Given the description of an element on the screen output the (x, y) to click on. 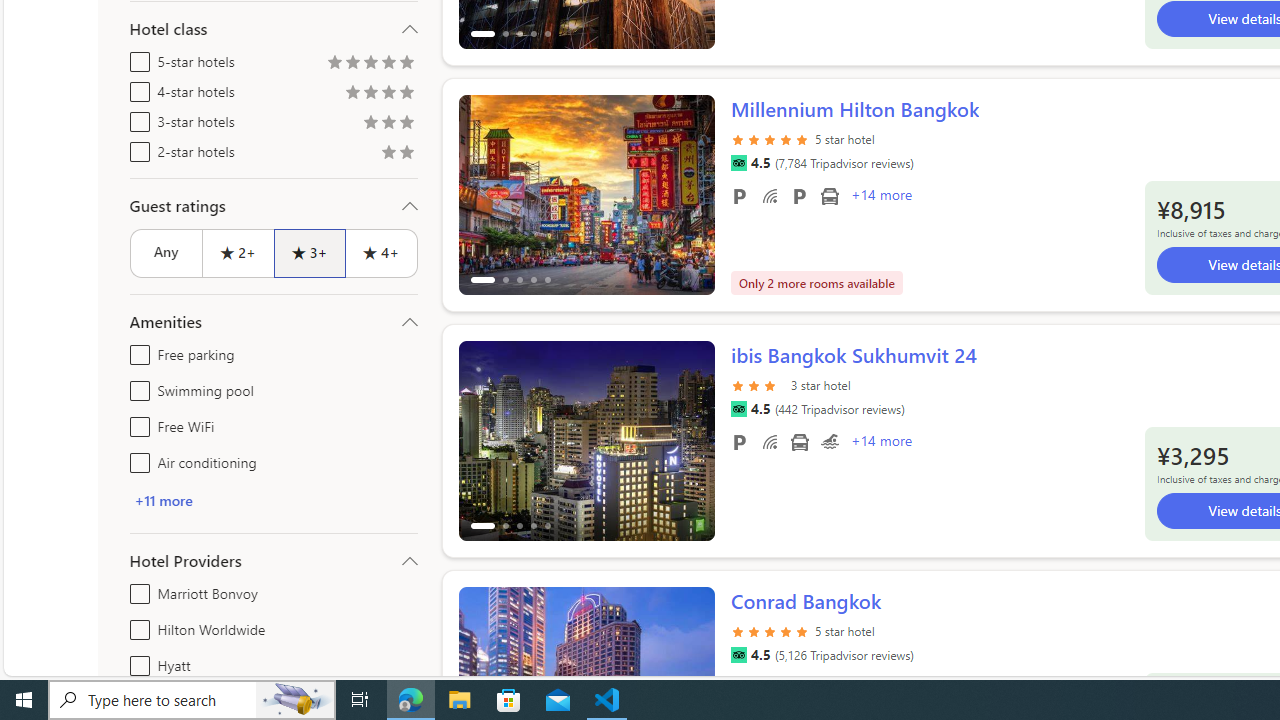
2+ (236, 252)
Free WiFi (136, 422)
Swimming pool (136, 386)
2-star hotels (136, 147)
Marriott Bonvoy (136, 589)
star rating (770, 630)
Swimming pool (829, 441)
4-star hotels (136, 88)
5-star hotels (136, 57)
+14 More Amenities (880, 443)
Hyatt (136, 661)
Rating (406, 154)
Free WiFi (769, 441)
Hilton Worldwide (136, 625)
3-star hotels (136, 118)
